Given the description of an element on the screen output the (x, y) to click on. 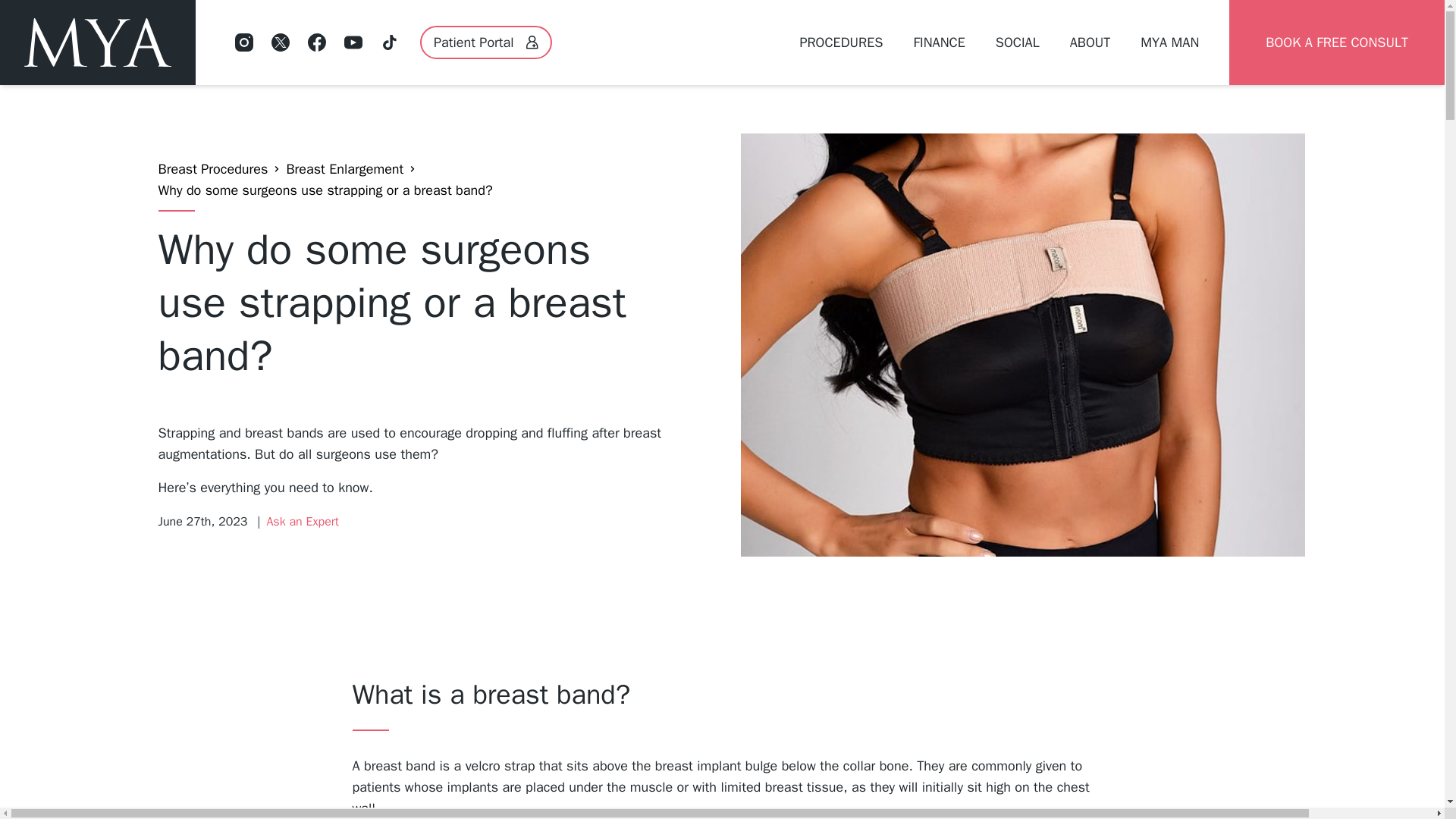
FINANCE (938, 42)
PROCEDURES (841, 42)
Patient Portal (485, 41)
